Given the description of an element on the screen output the (x, y) to click on. 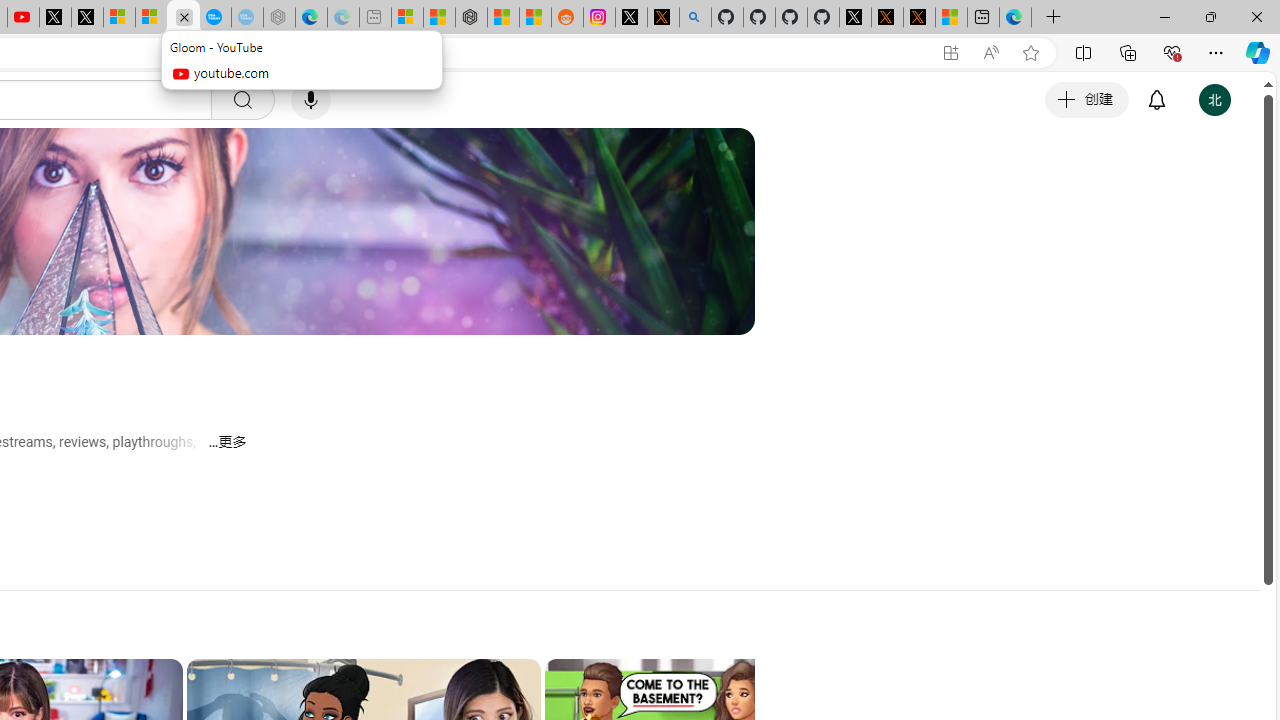
Nordace - Nordace has arrived Hong Kong - Sleeping (279, 17)
Nordace - Duffels (471, 17)
Welcome to Microsoft Edge (1014, 17)
Profile / X (855, 17)
Close (1256, 16)
Read aloud this page (Ctrl+Shift+U) (991, 53)
Microsoft account | Microsoft Account Privacy Settings (407, 17)
Opinion: Op-Ed and Commentary - USA TODAY (215, 17)
The most popular Google 'how to' searches - Sleeping (246, 17)
